Given the description of an element on the screen output the (x, y) to click on. 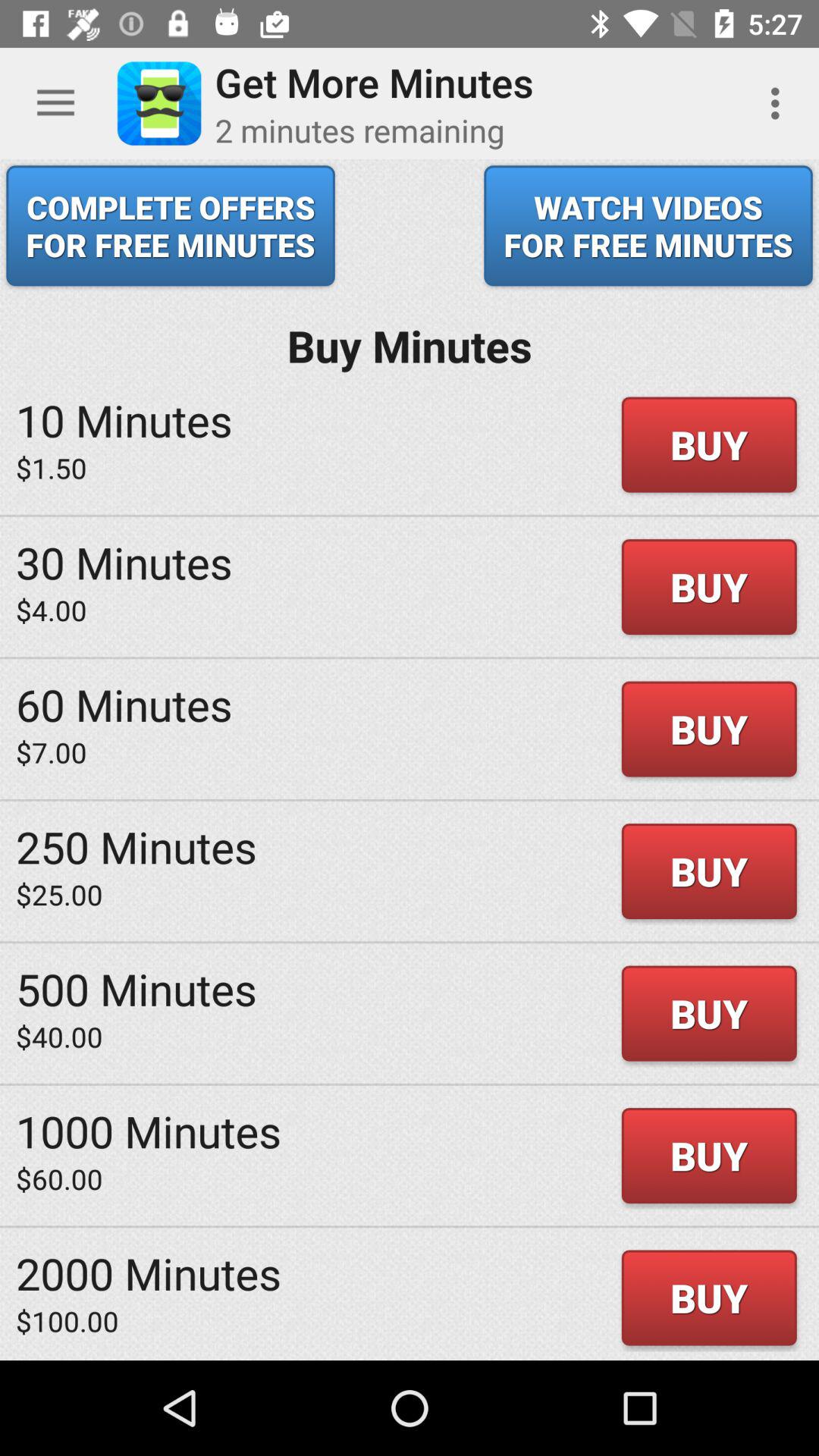
select icon next to the buy icon (123, 419)
